Given the description of an element on the screen output the (x, y) to click on. 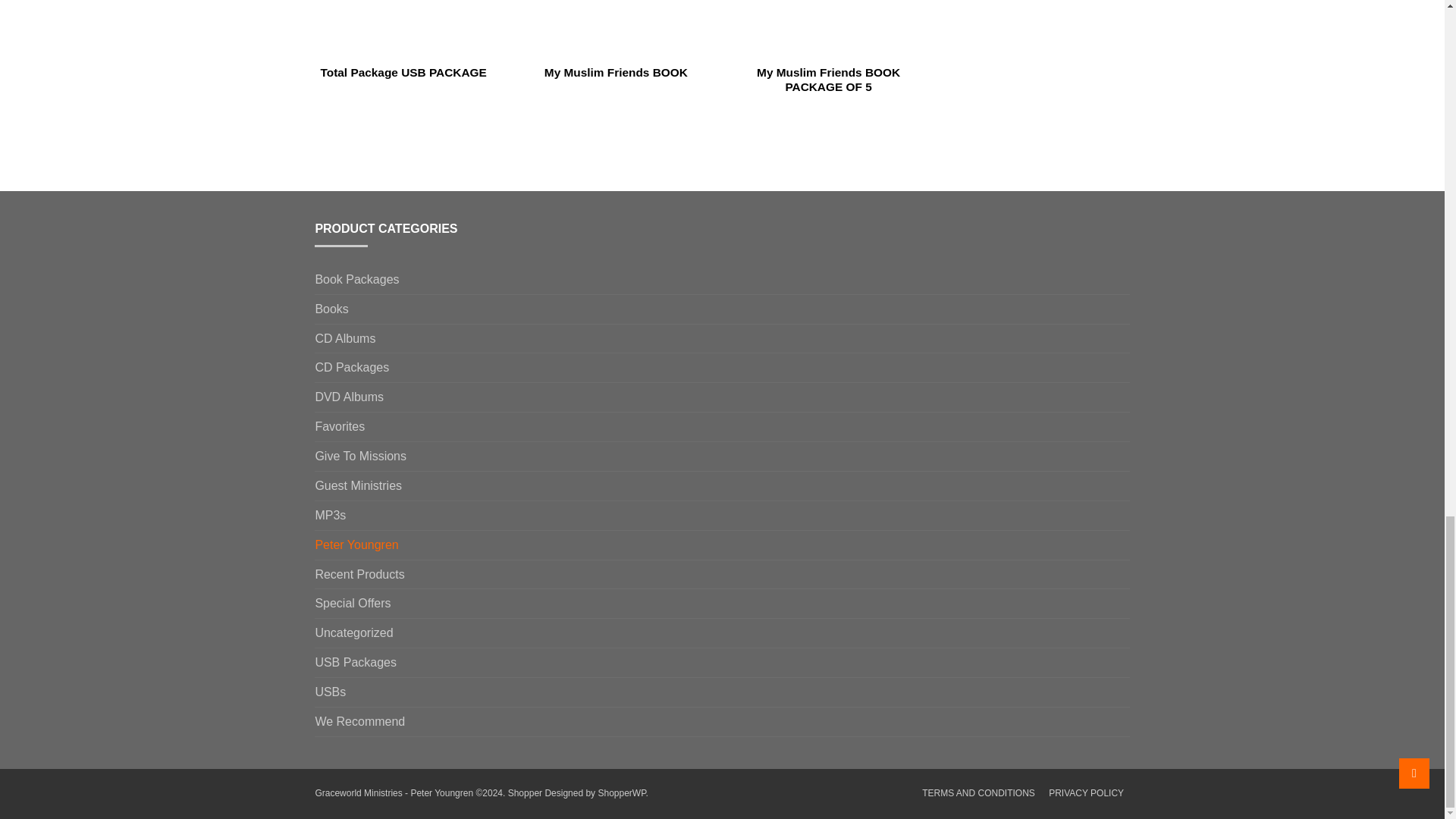
CD Albums (344, 338)
Shopper - The Best Free WooCommerce for WordPress (620, 792)
Book Packages (356, 279)
Total Package USB PACKAGE (403, 40)
Shopper (524, 792)
Books (330, 308)
CD Packages (351, 367)
DVD Albums (349, 397)
My Muslim Friends BOOK (615, 40)
My Muslim Friends BOOK PACKAGE OF 5 (828, 47)
